Given the description of an element on the screen output the (x, y) to click on. 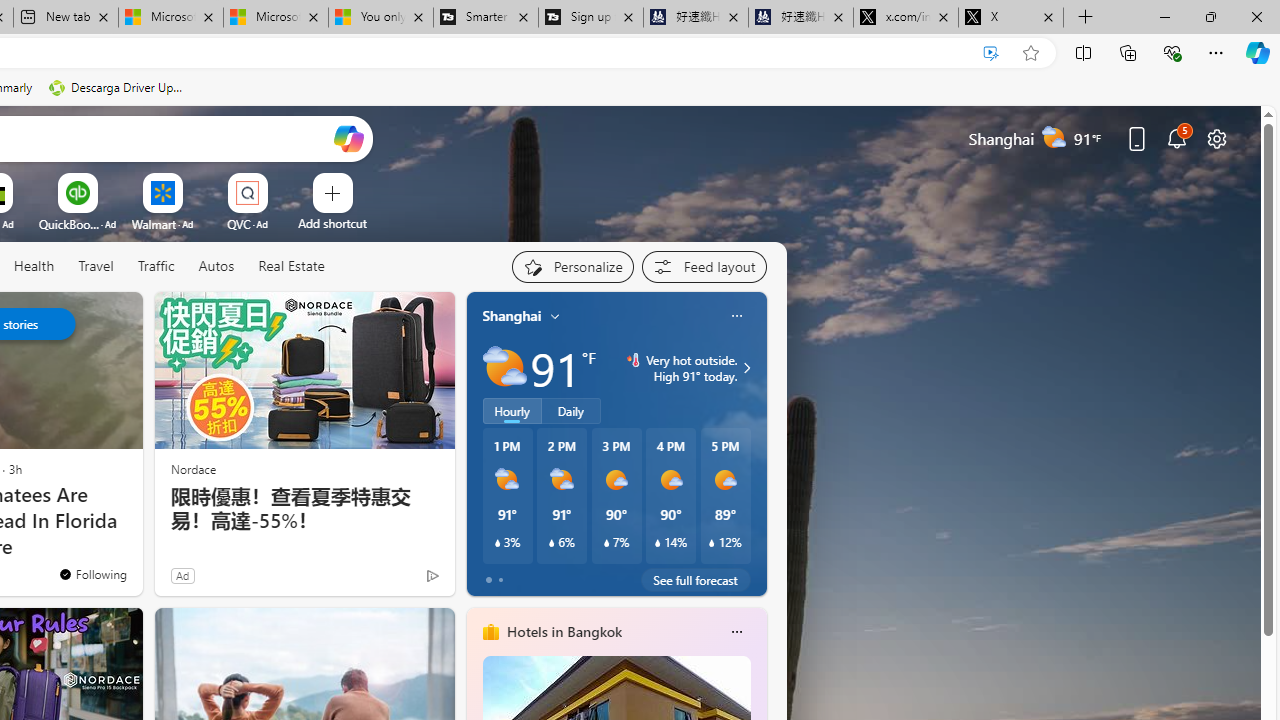
tab-0 (488, 579)
Shanghai (511, 315)
Traffic (155, 265)
Feed settings (703, 266)
next (756, 443)
Class: weather-current-precipitation-glyph (712, 543)
Health (34, 265)
previous (476, 443)
